Given the description of an element on the screen output the (x, y) to click on. 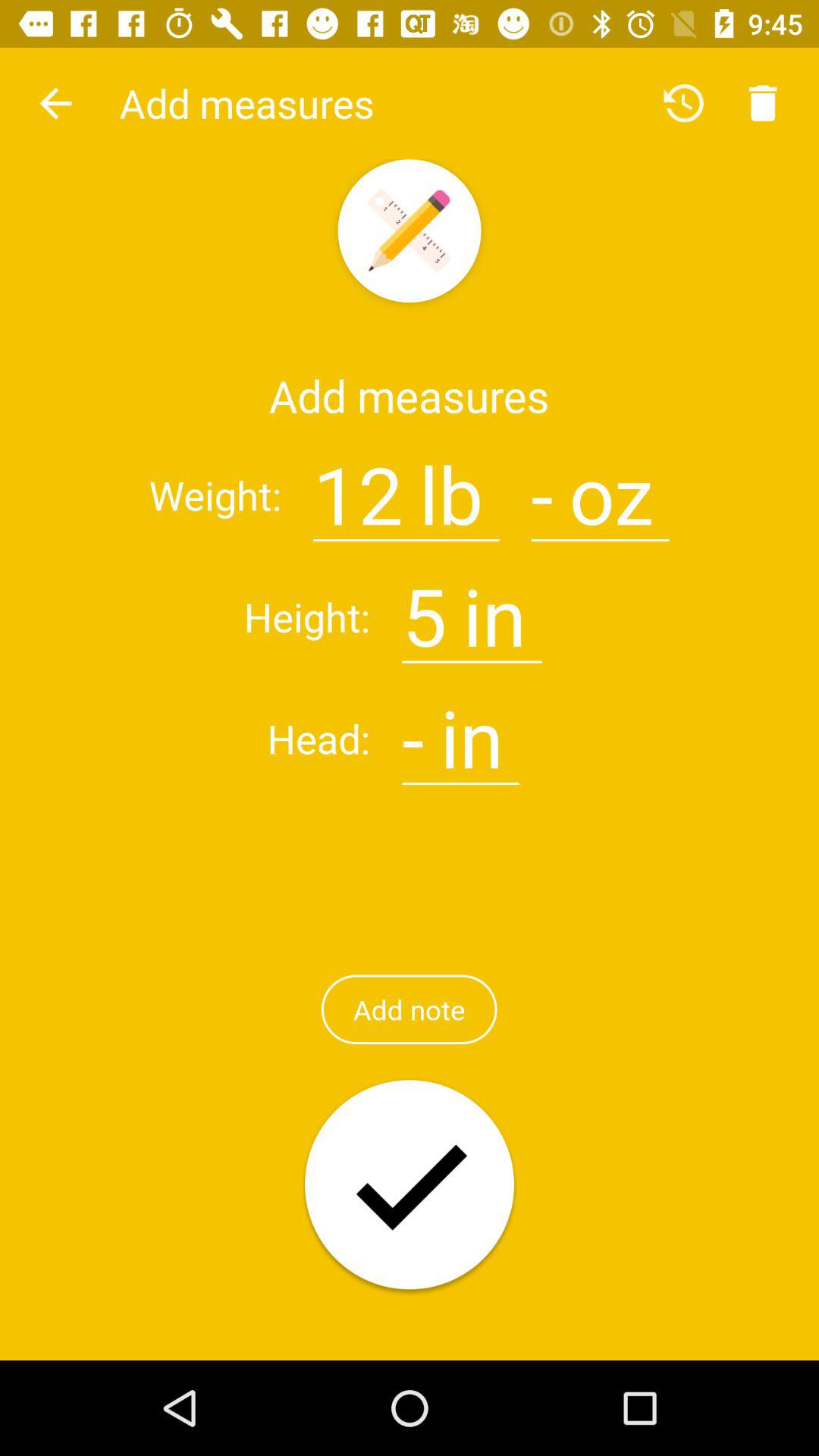
tap icon next to the oz (542, 485)
